Given the description of an element on the screen output the (x, y) to click on. 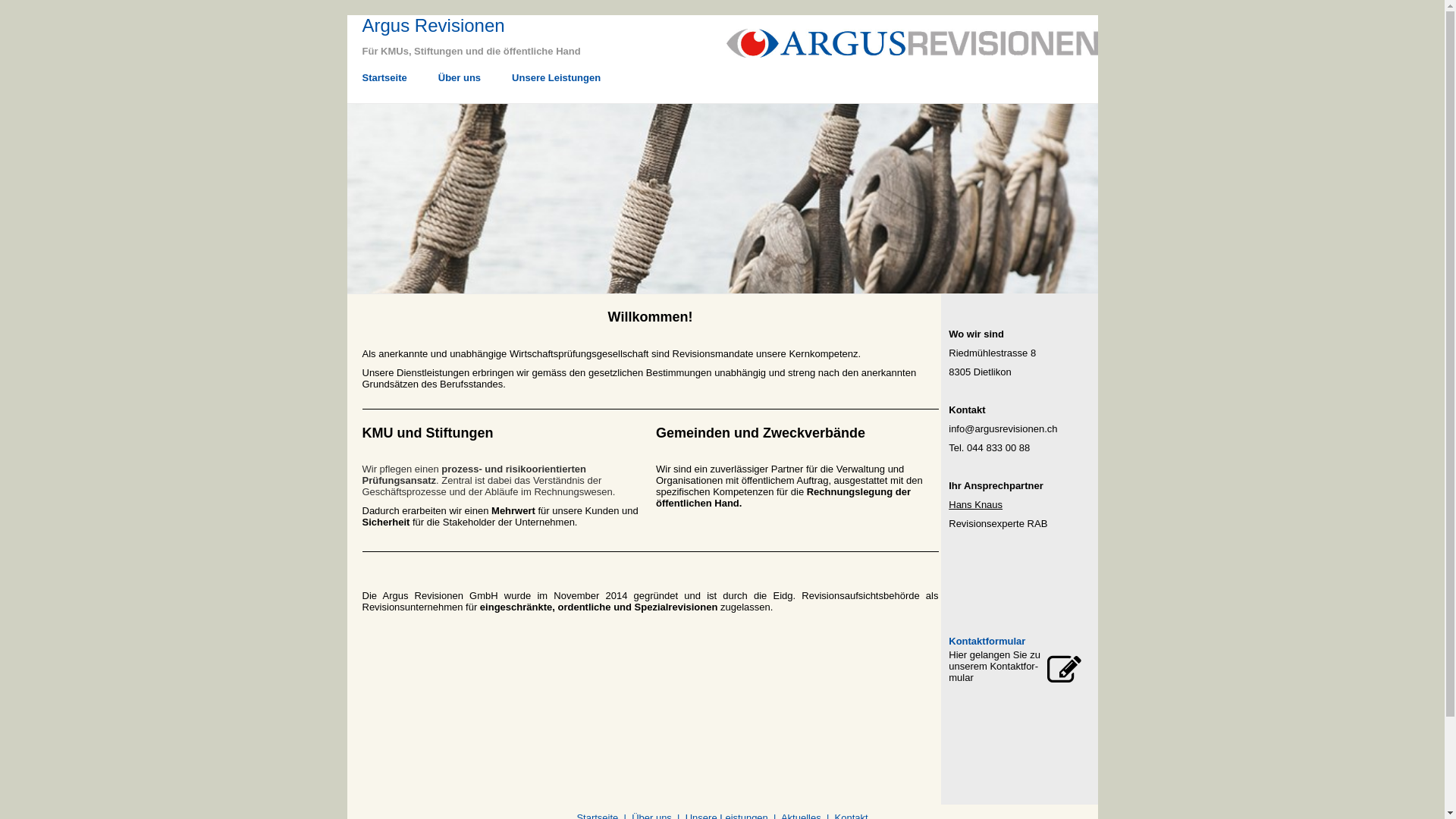
Startseite Element type: text (388, 86)
Unsere Leistungen Element type: text (559, 86)
Hans Knaus Element type: text (975, 504)
